Given the description of an element on the screen output the (x, y) to click on. 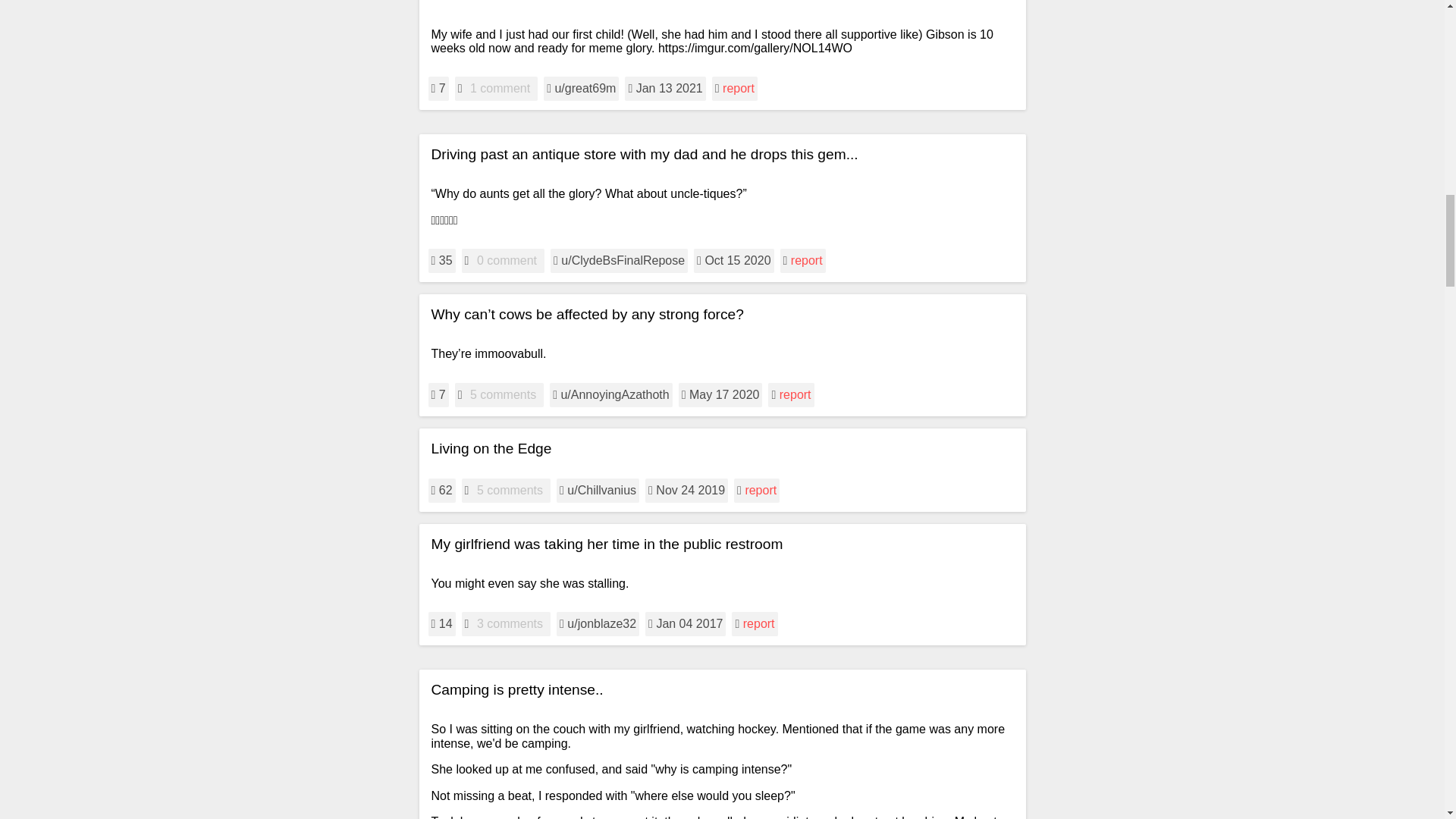
1 comment (499, 88)
5 comments (502, 394)
report (794, 394)
report (806, 259)
0 comment (506, 260)
report (738, 88)
